Given the description of an element on the screen output the (x, y) to click on. 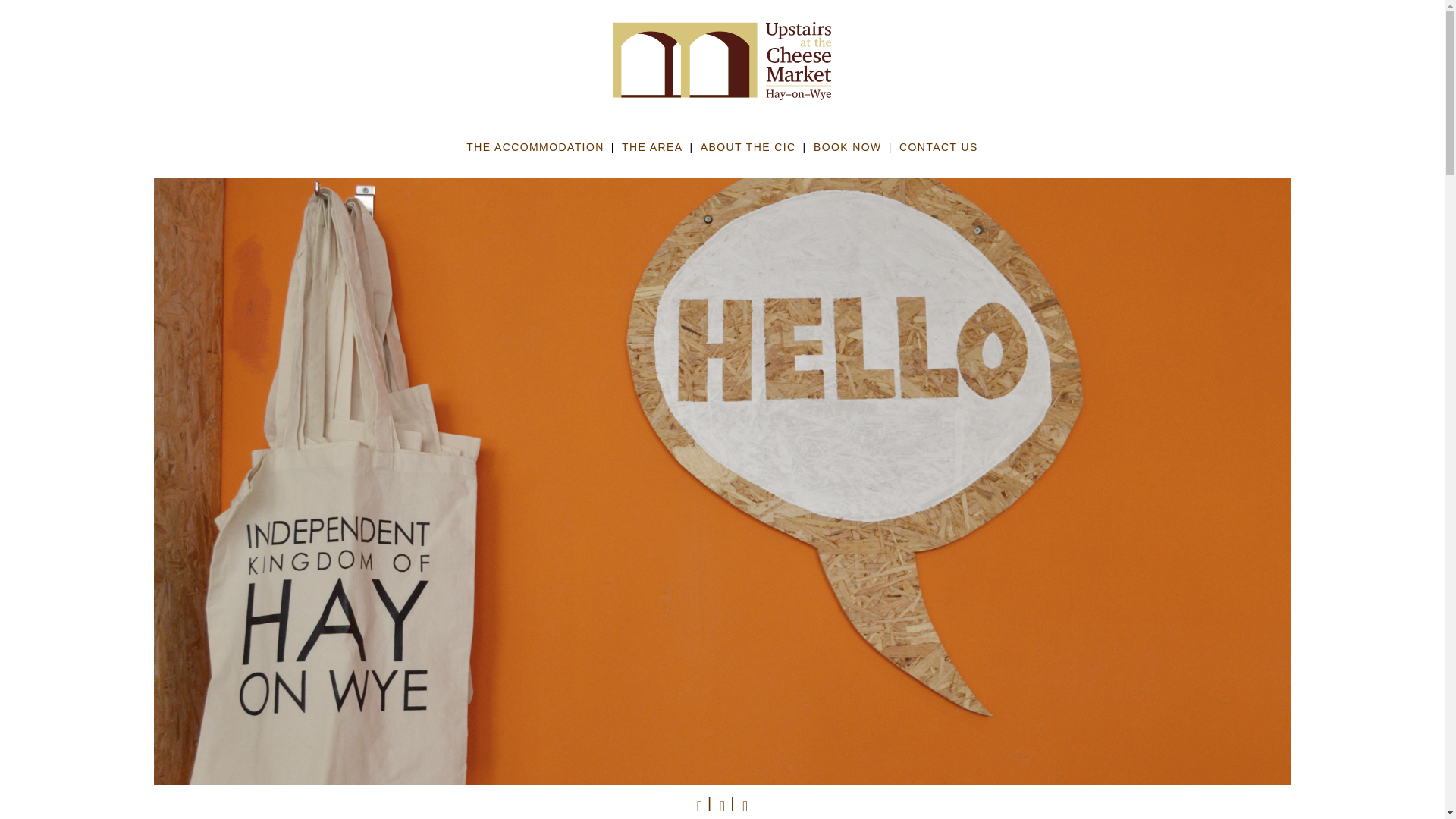
CONTACT US (938, 152)
BOOK NOW (847, 152)
ABOUT THE CIC (748, 152)
THE ACCOMMODATION (534, 152)
THE AREA (651, 152)
